Given the description of an element on the screen output the (x, y) to click on. 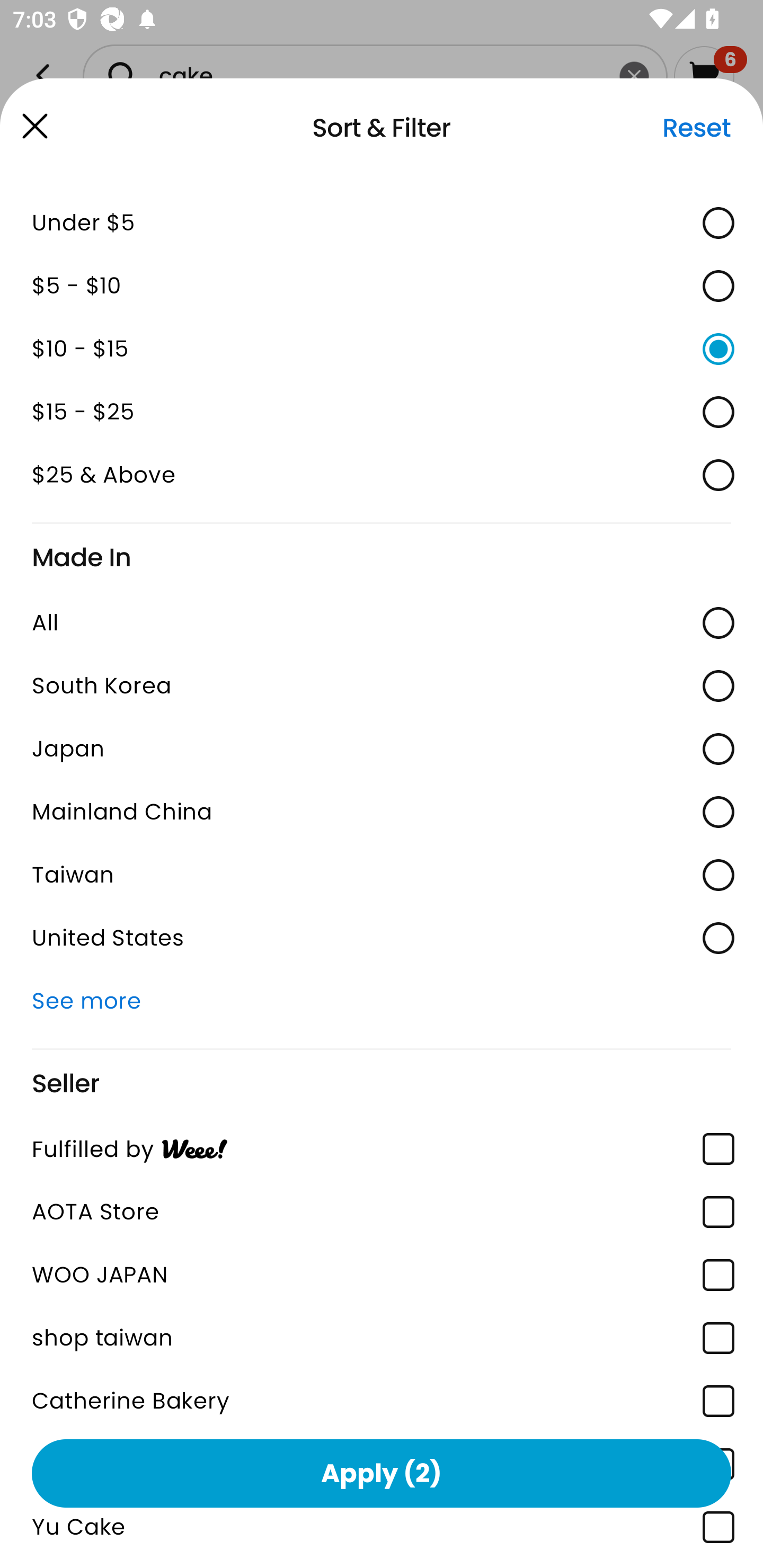
Reset (696, 127)
See more (381, 1000)
Apply (2) (381, 1472)
